Given the description of an element on the screen output the (x, y) to click on. 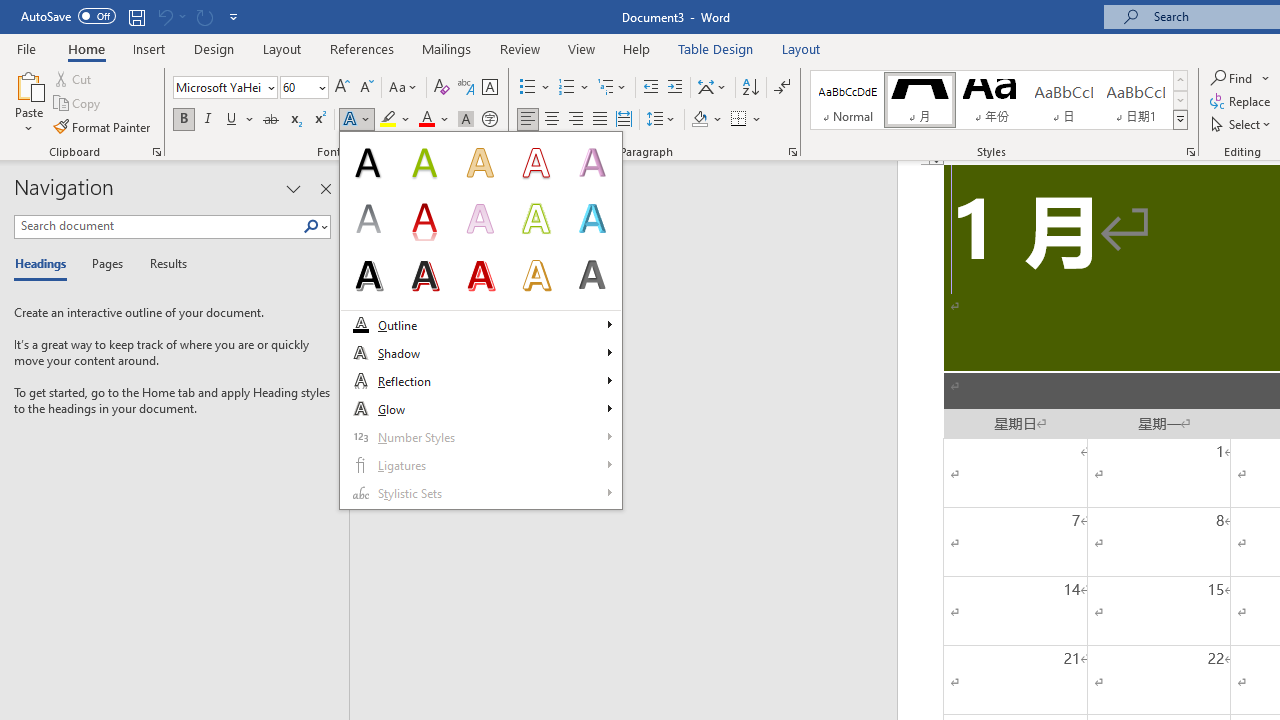
&Text Effects and Typography (481, 320)
